Given the description of an element on the screen output the (x, y) to click on. 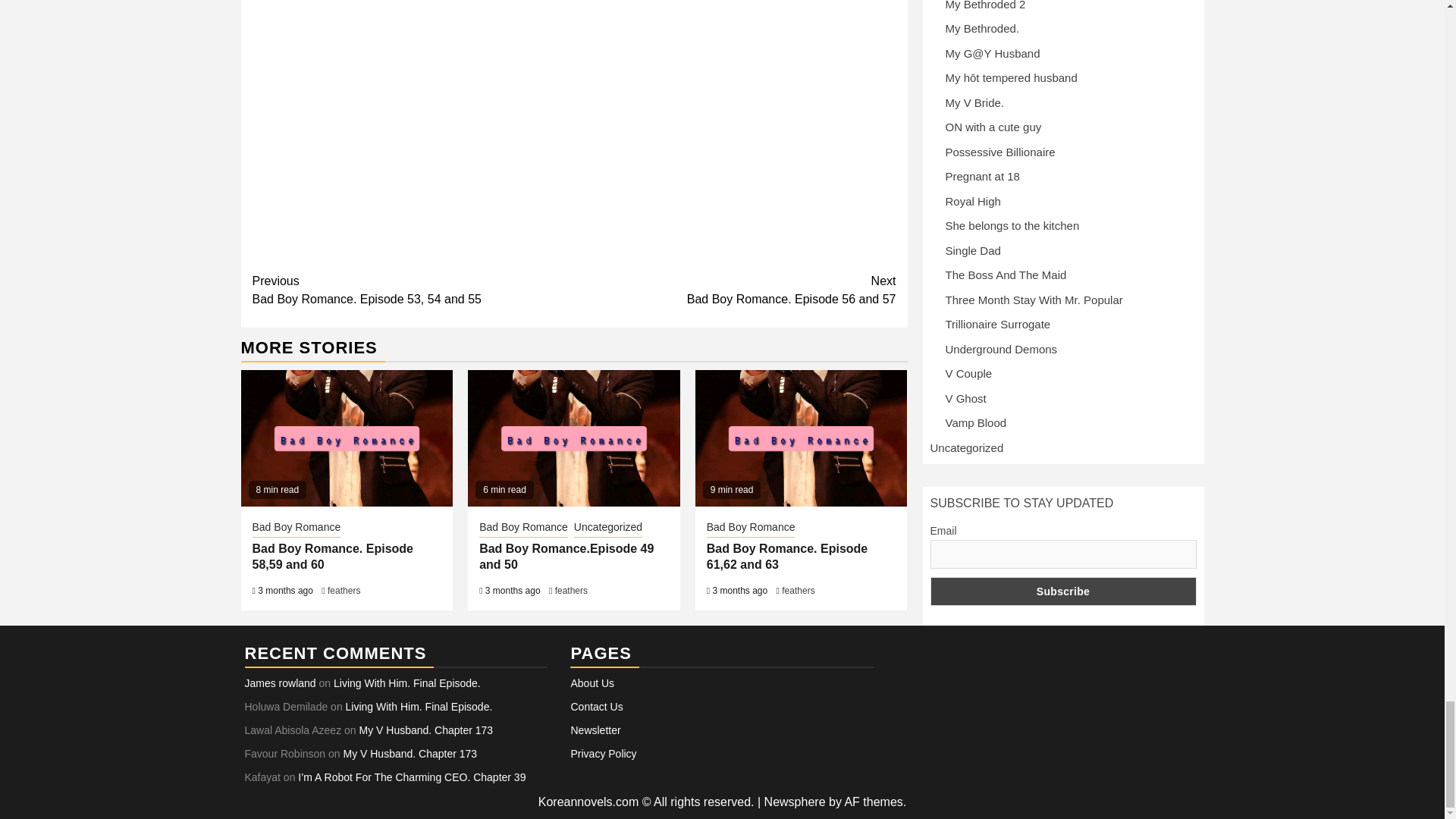
Uncategorized (607, 528)
Bad Boy Romance (750, 528)
Bad Boy Romance. Episode 61,62 and 63 (786, 556)
feathers (571, 590)
Bad Boy Romance (523, 528)
Bad Boy Romance.Episode 49 and 50 (566, 556)
feathers (797, 590)
feathers (343, 590)
Bad Boy Romance. Episode 58,59 and 60 (412, 289)
Bad Boy Romance (734, 289)
